Given the description of an element on the screen output the (x, y) to click on. 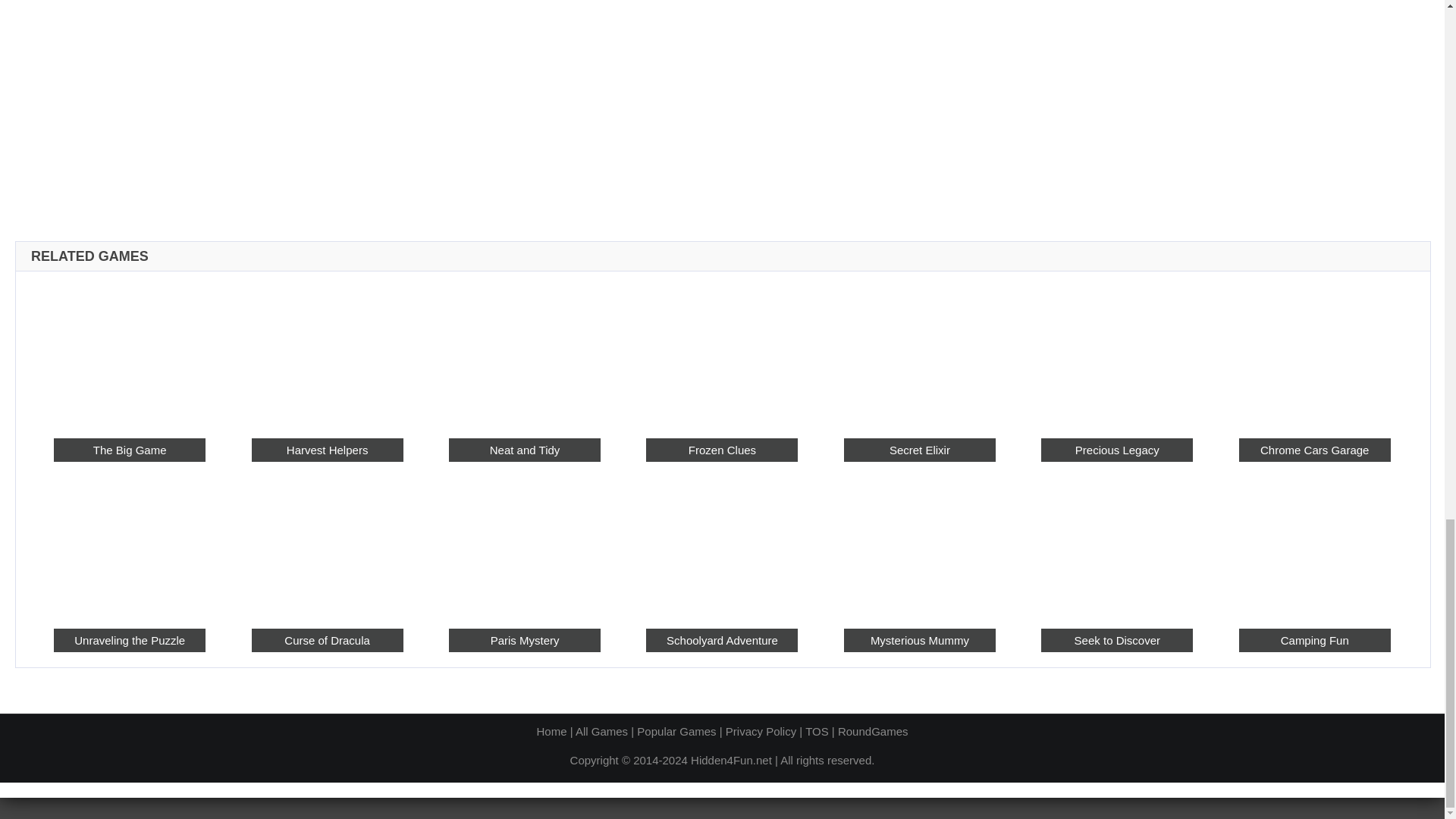
Harvest Helpers (327, 449)
Frozen Clues (721, 449)
The Big Game (129, 353)
Neat and Tidy (523, 449)
Frozen Clues (721, 353)
Harvest Helpers (327, 353)
Secret Elixir (919, 449)
The Big Game (129, 449)
Neat and Tidy (523, 353)
Secret Elixir (919, 353)
